Given the description of an element on the screen output the (x, y) to click on. 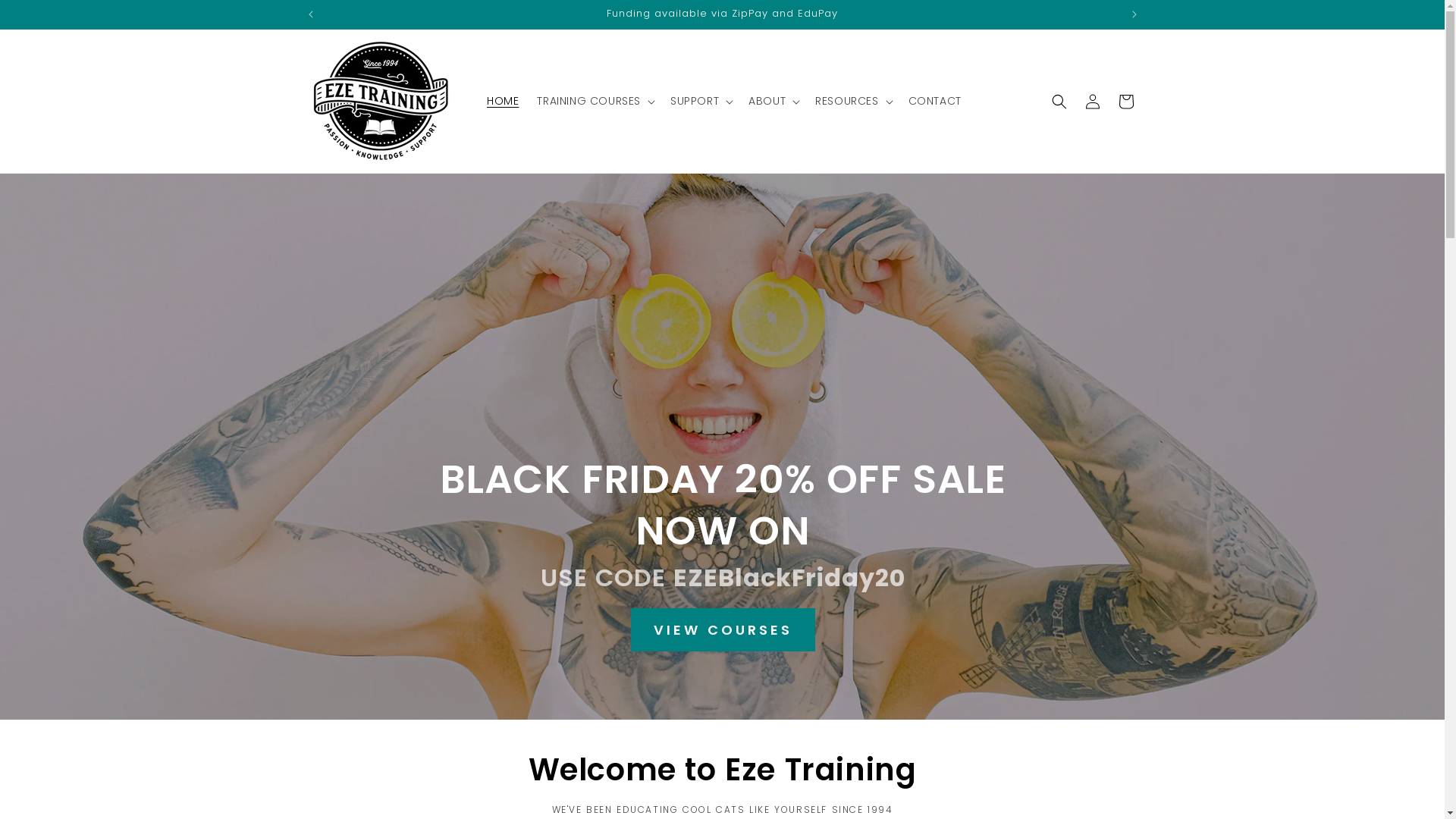
Cart Element type: text (1125, 101)
VIEW COURSES Element type: text (722, 629)
HOME Element type: text (502, 100)
CONTACT Element type: text (934, 100)
Log in Element type: text (1091, 101)
